Given the description of an element on the screen output the (x, y) to click on. 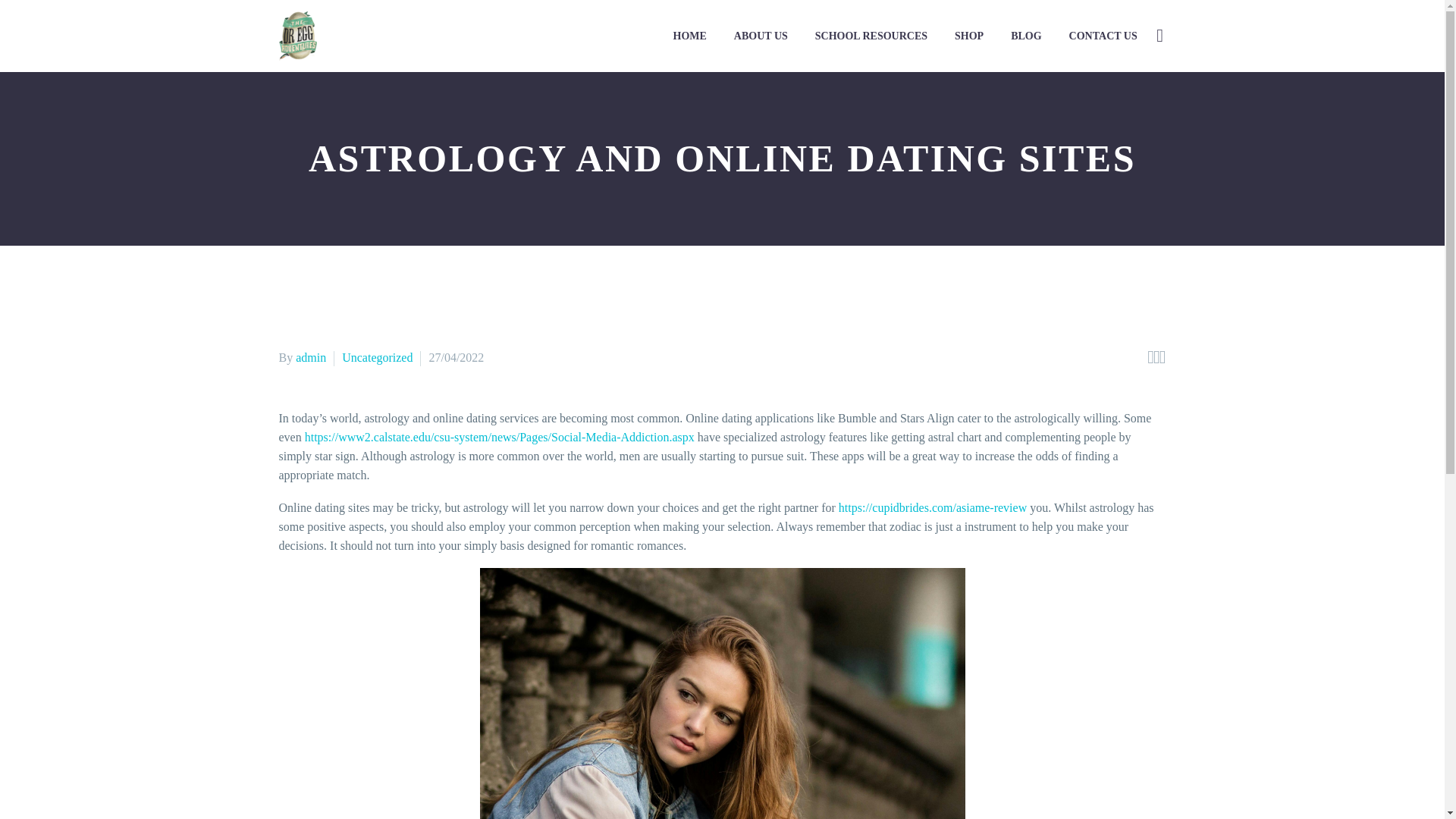
SHOP (968, 35)
CONTACT US (1103, 35)
BLOG (1025, 35)
admin (310, 357)
ABOUT US (760, 35)
View all posts in Uncategorized (377, 357)
SCHOOL RESOURCES (871, 35)
Uncategorized (377, 357)
HOME (689, 35)
